Given the description of an element on the screen output the (x, y) to click on. 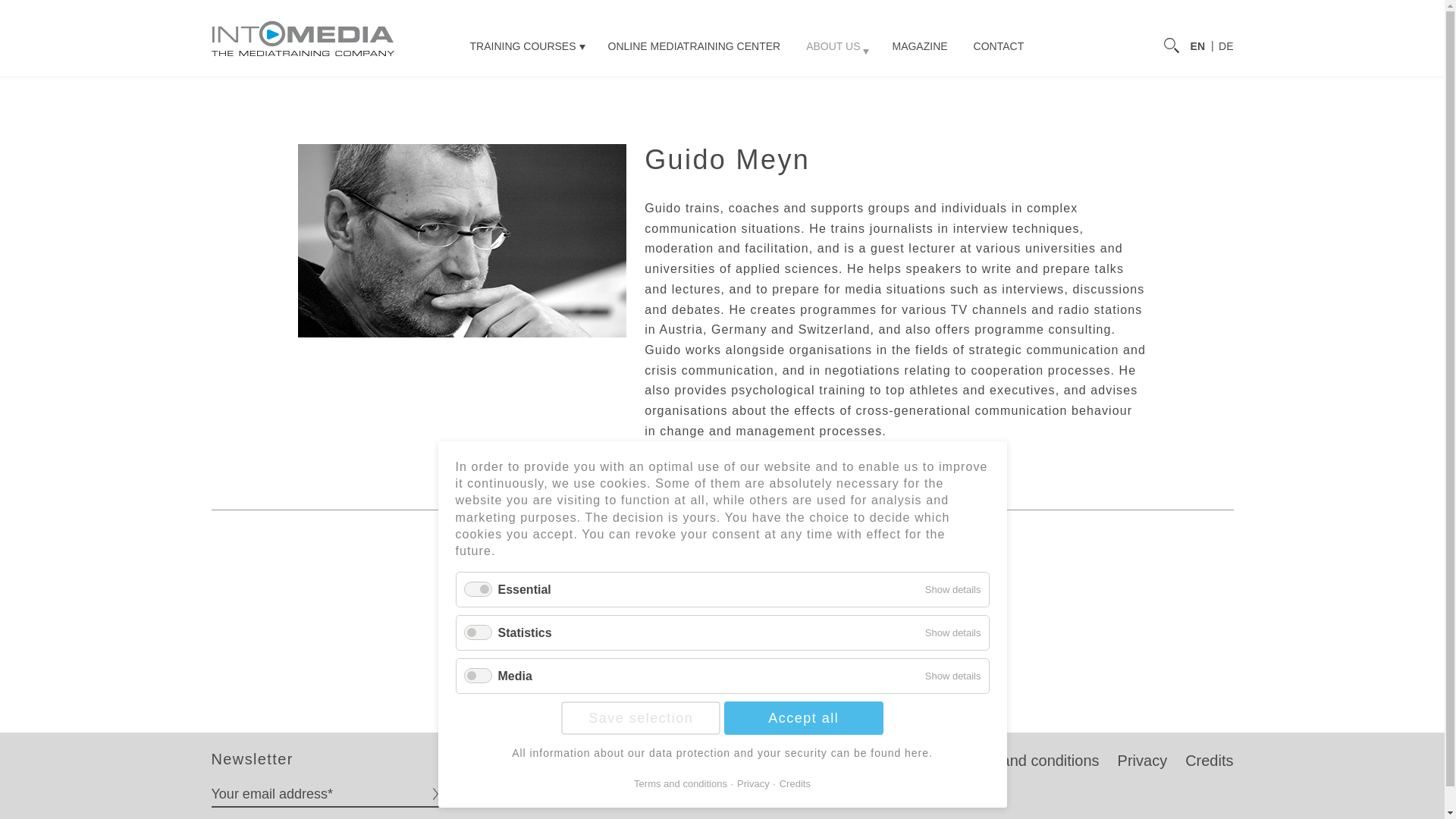
Guido Meyn (1225, 45)
Contact form (732, 641)
Credits (1208, 760)
Online Mediatraining Center (694, 45)
Terms and conditions (1027, 760)
Terms and conditions (1027, 760)
Save selection (640, 717)
ABOUT US (836, 45)
Privacy (1142, 760)
Privacy (1142, 760)
Credits (791, 784)
ONLINE MEDIATRAINING CENTER (694, 45)
Terms and conditions (679, 784)
Contact (999, 45)
